Given the description of an element on the screen output the (x, y) to click on. 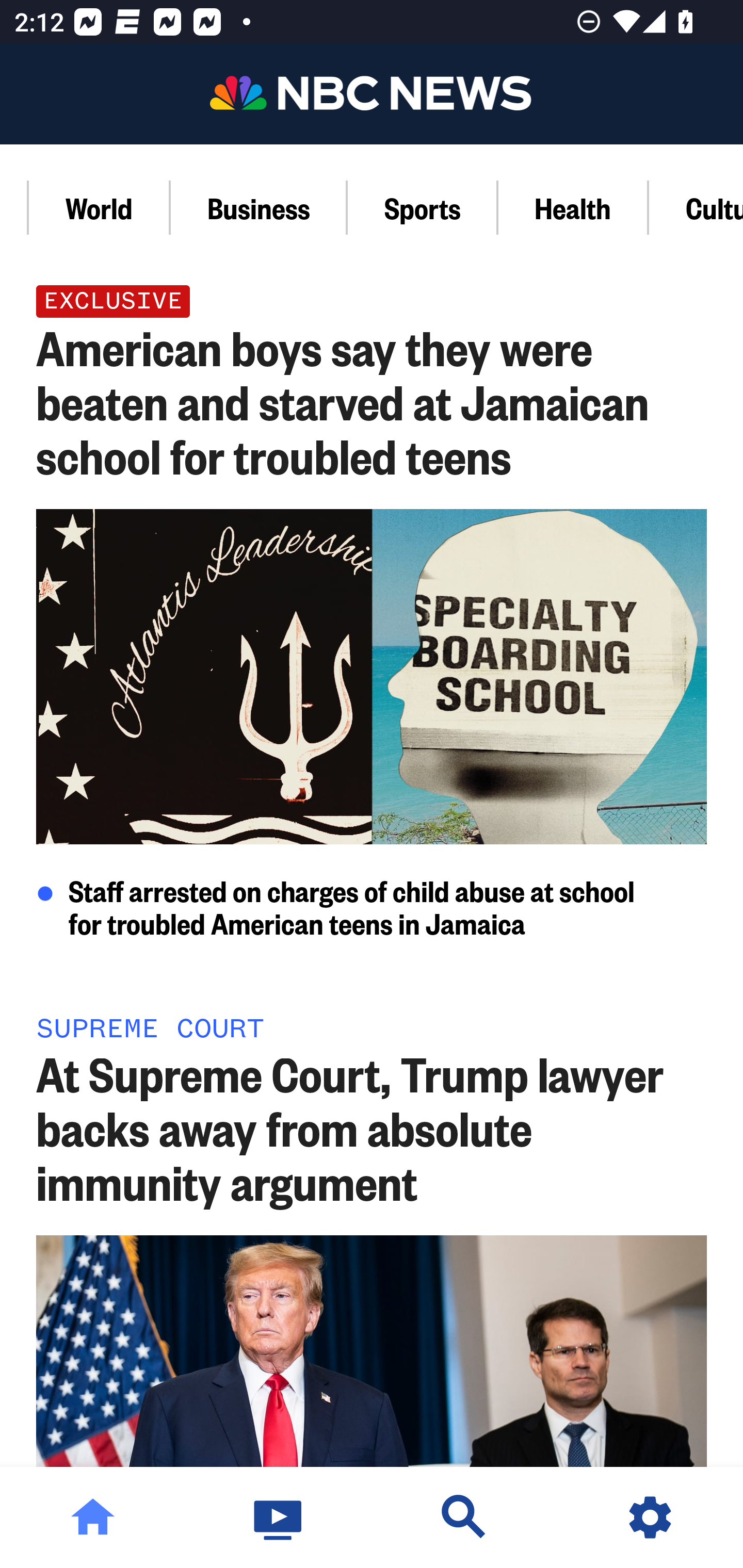
World Section,World (99, 207)
Business Section,Business (258, 207)
Sports Section,Sports (422, 207)
Health Section,Health (573, 207)
Watch (278, 1517)
Discover (464, 1517)
Settings (650, 1517)
